Given the description of an element on the screen output the (x, y) to click on. 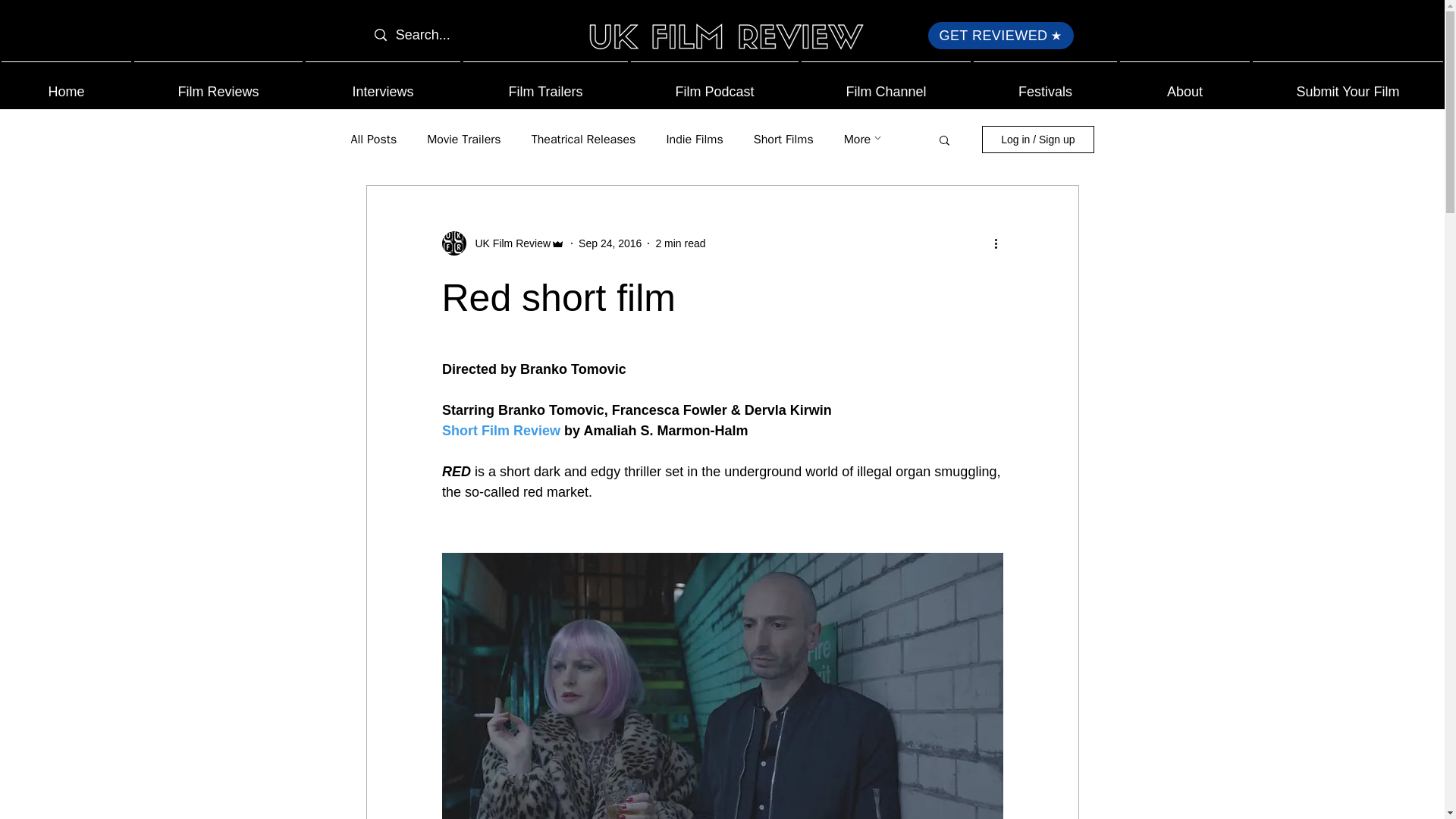
Film Podcast (713, 84)
Interviews (382, 84)
Festivals (1045, 84)
UK Film Review (507, 242)
Film Channel (885, 84)
GET REVIEWED (1001, 35)
2 min read (679, 242)
Sep 24, 2016 (610, 242)
Home (66, 84)
Film Trailers (544, 84)
